Given the description of an element on the screen output the (x, y) to click on. 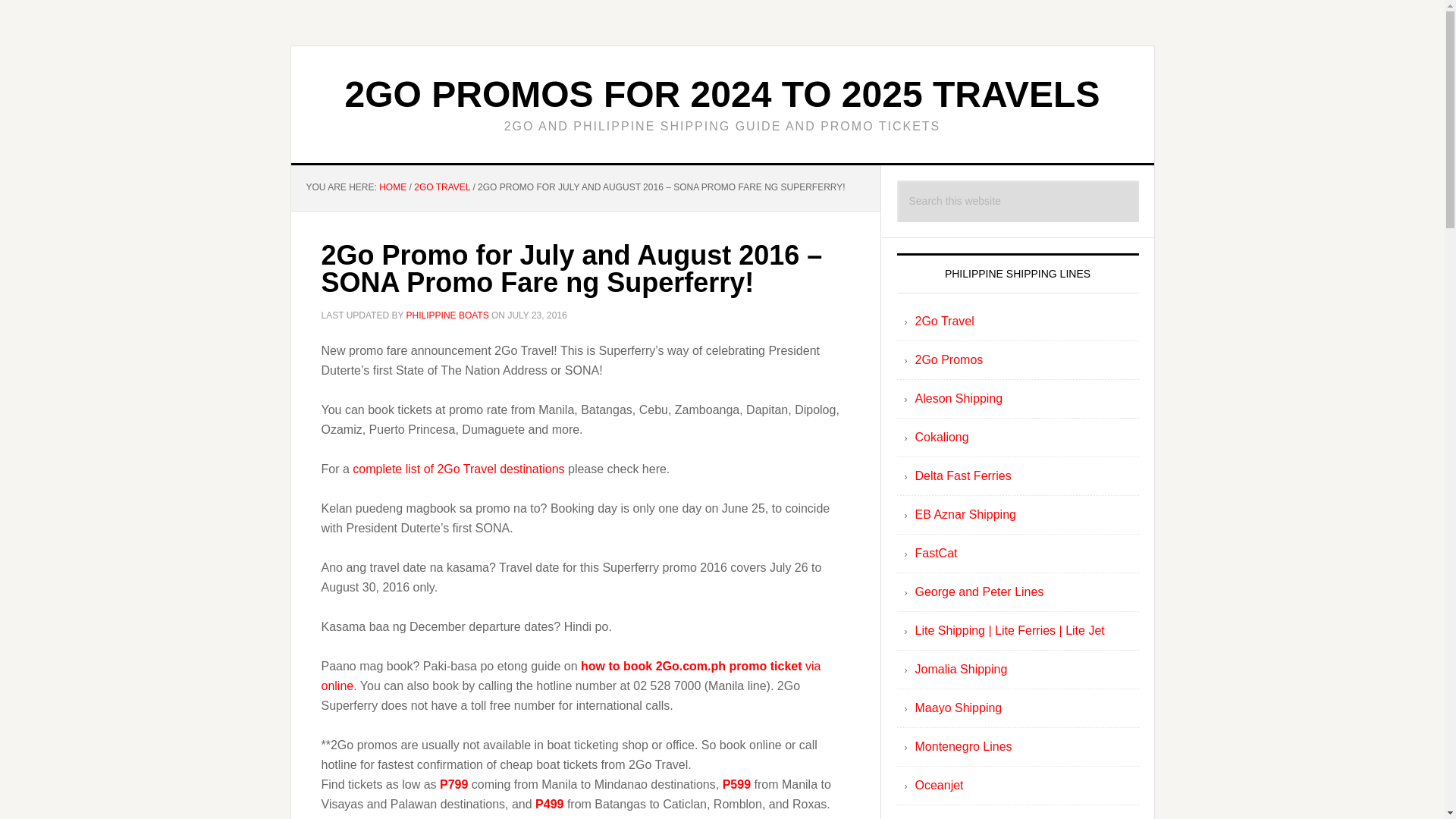
2GO TRAVEL (441, 186)
how to book 2Go.com.ph promo ticket via online (571, 676)
Aleson Shipping (958, 398)
2GO PROMOS FOR 2024 TO 2025 TRAVELS (722, 94)
George and Peter Lines (978, 591)
2Go Promos (948, 359)
PHILIPPINE BOATS (447, 314)
complete list of 2Go Travel destinations (459, 468)
Jomalia Shipping (960, 668)
HOME (392, 186)
